Given the description of an element on the screen output the (x, y) to click on. 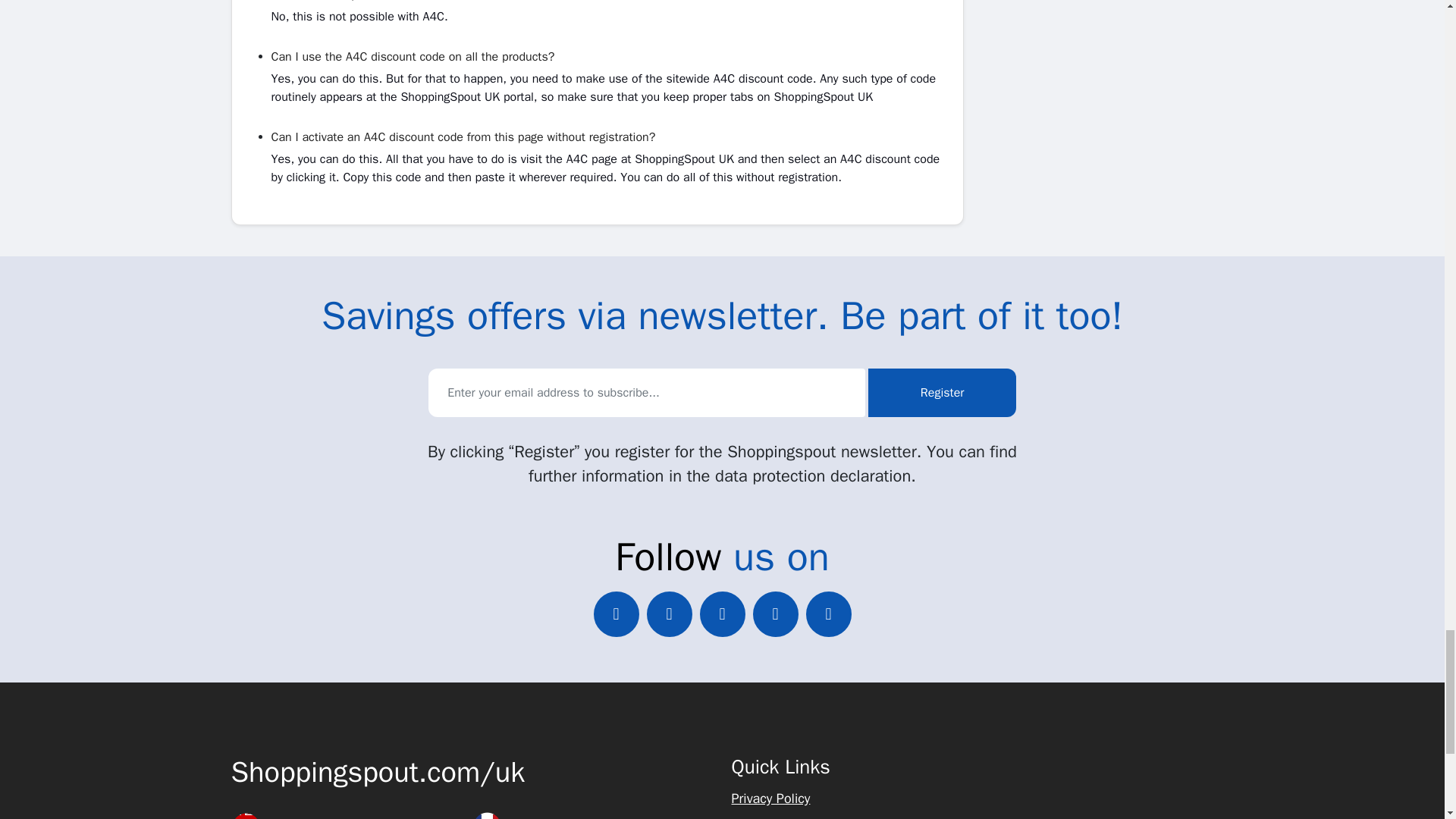
facebook (668, 614)
twitter (615, 614)
instagram (827, 614)
Customer reviews powered by Trustpilot (1096, 768)
linkedin (721, 614)
pinterest (774, 614)
